Given the description of an element on the screen output the (x, y) to click on. 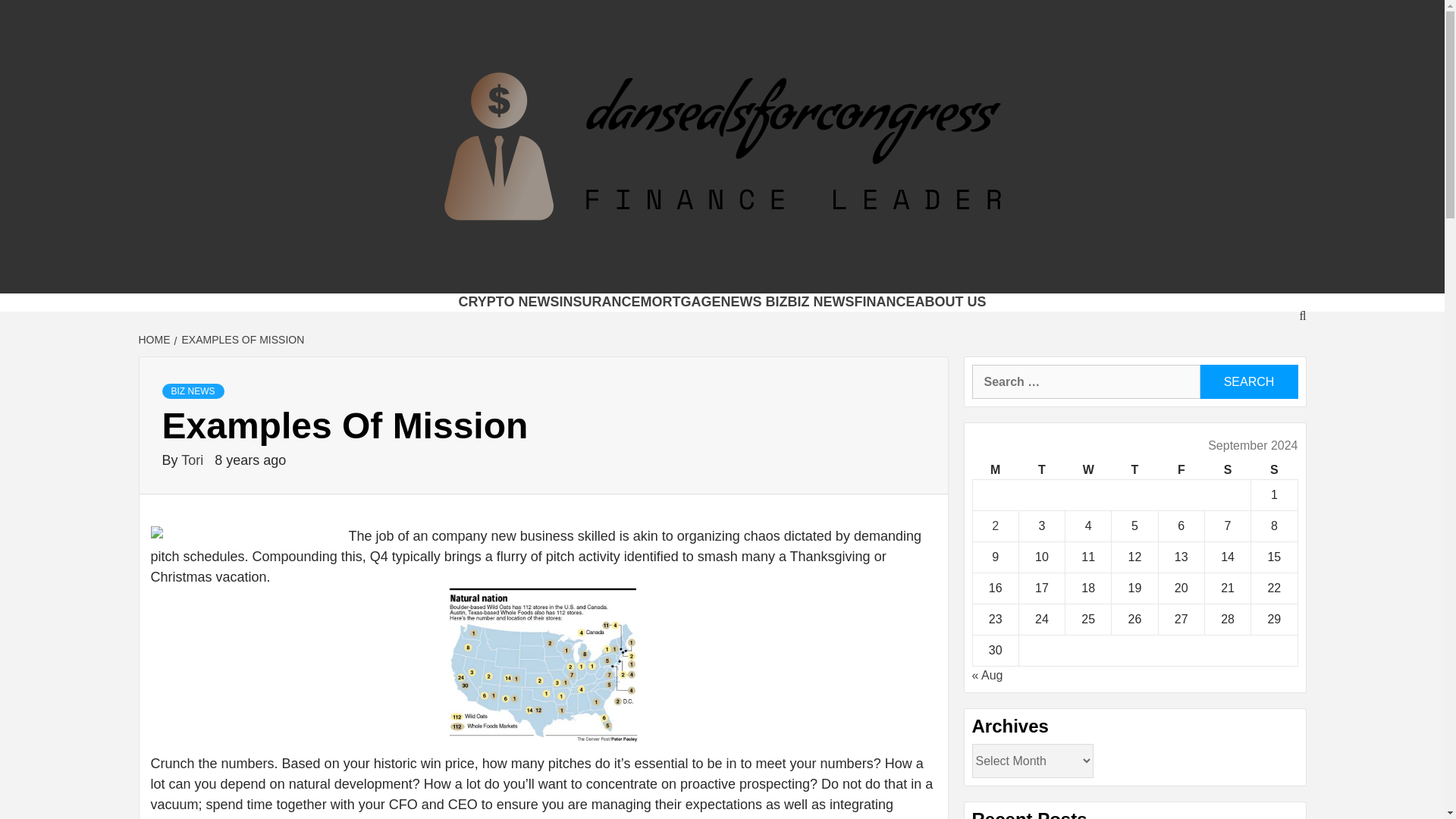
Thursday (1134, 470)
BIZ NEWS (192, 391)
Search (1248, 381)
INSURANCE (599, 301)
Tori (193, 459)
EXAMPLES OF MISSION (241, 339)
FINANCE (884, 301)
CRYPTO NEWS (508, 301)
Search (1248, 381)
Wednesday (1088, 470)
